Given the description of an element on the screen output the (x, y) to click on. 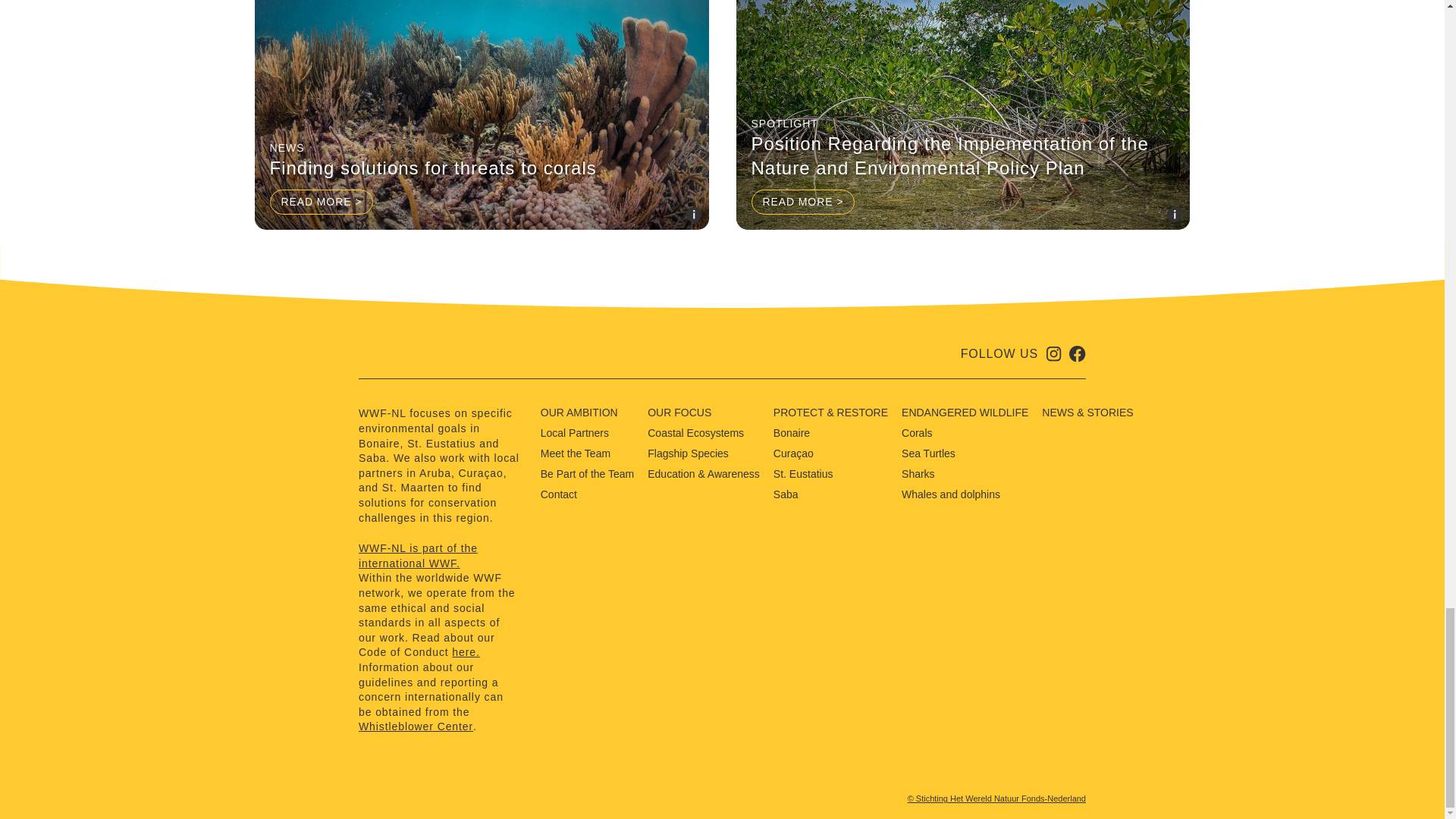
here. (465, 652)
WWF-NL is part of the international WWF. (438, 555)
